Given the description of an element on the screen output the (x, y) to click on. 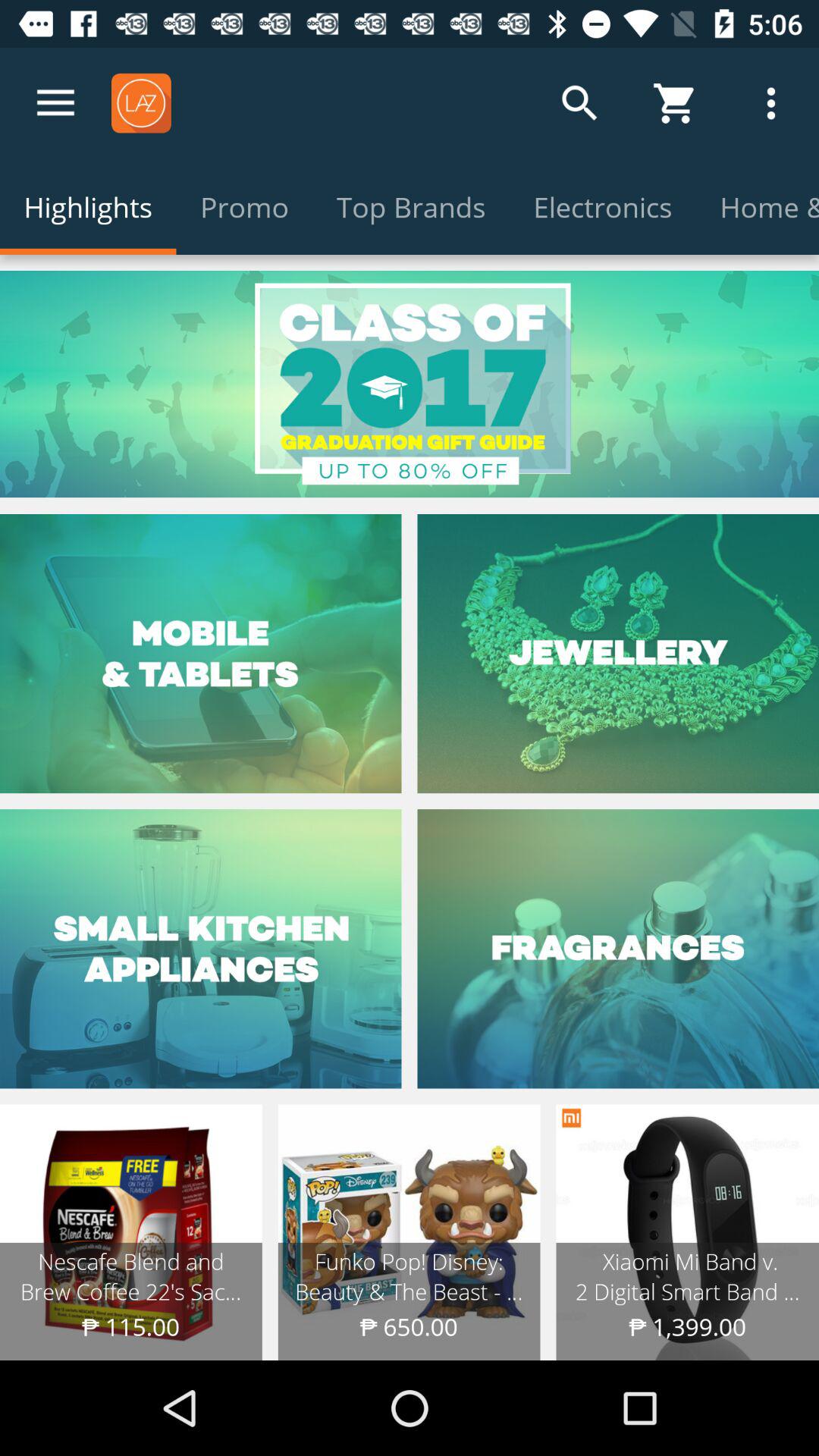
select on jewellery (618, 653)
click on the icon  laz (141, 103)
select the item with the price 65000 (409, 1232)
